Given the description of an element on the screen output the (x, y) to click on. 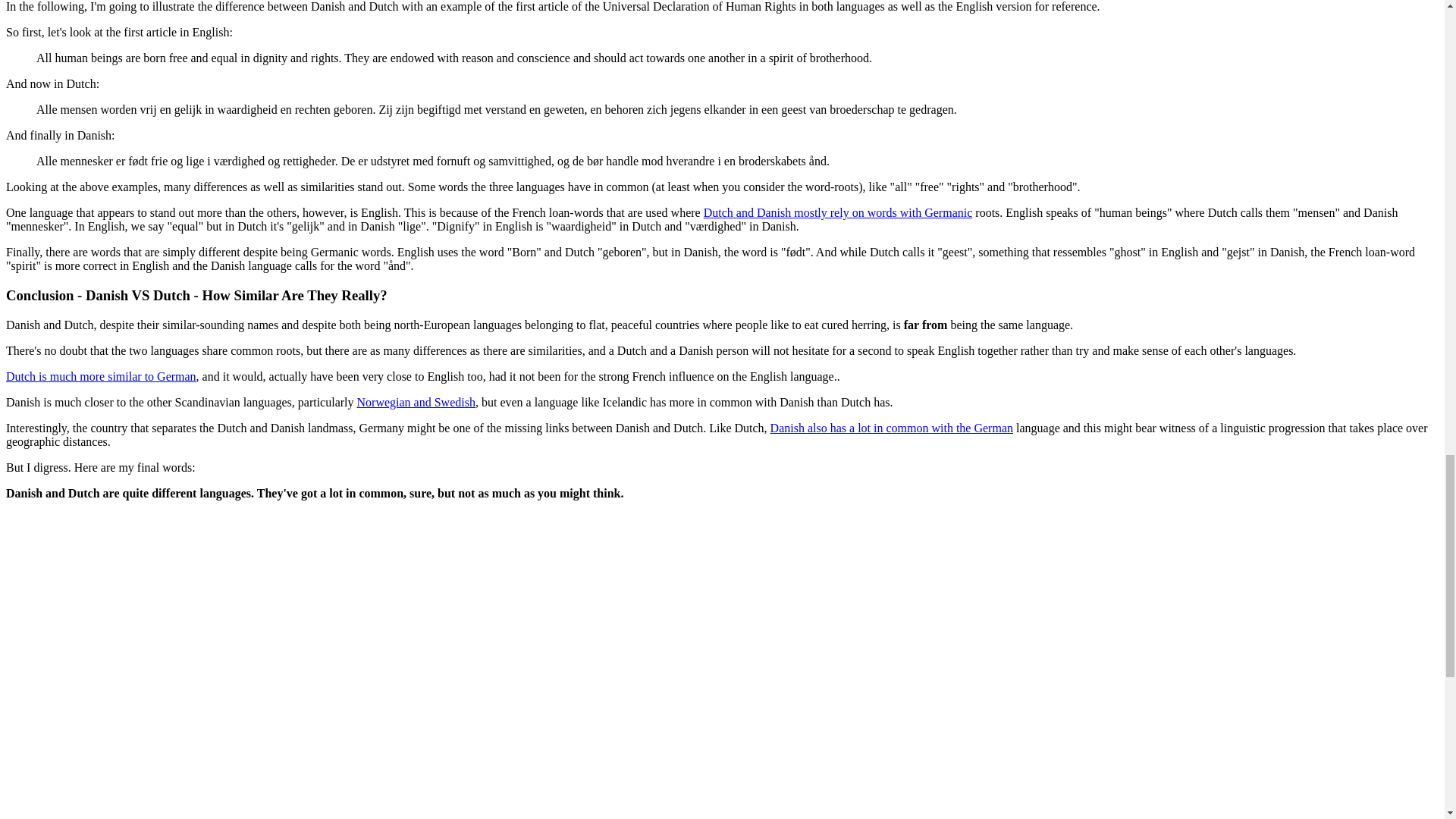
Dutch and Danish mostly rely on words with Germanic (837, 212)
Dutch is much more similar to German (100, 376)
Danish also has a lot in common with the German (891, 427)
Norwegian and Swedish (416, 401)
